Given the description of an element on the screen output the (x, y) to click on. 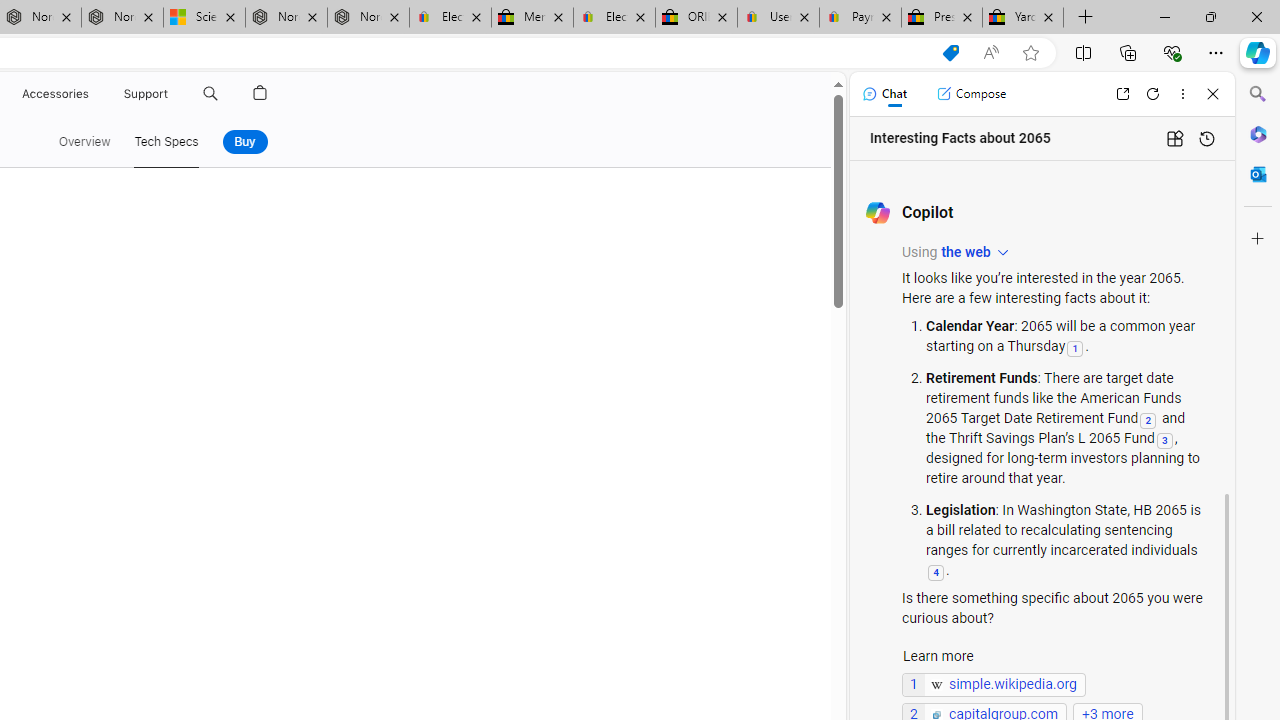
Tech Specs (166, 141)
Accessories (54, 93)
Buy HomePod mini (244, 142)
AutomationID: globalnav-bag (260, 93)
